Given the description of an element on the screen output the (x, y) to click on. 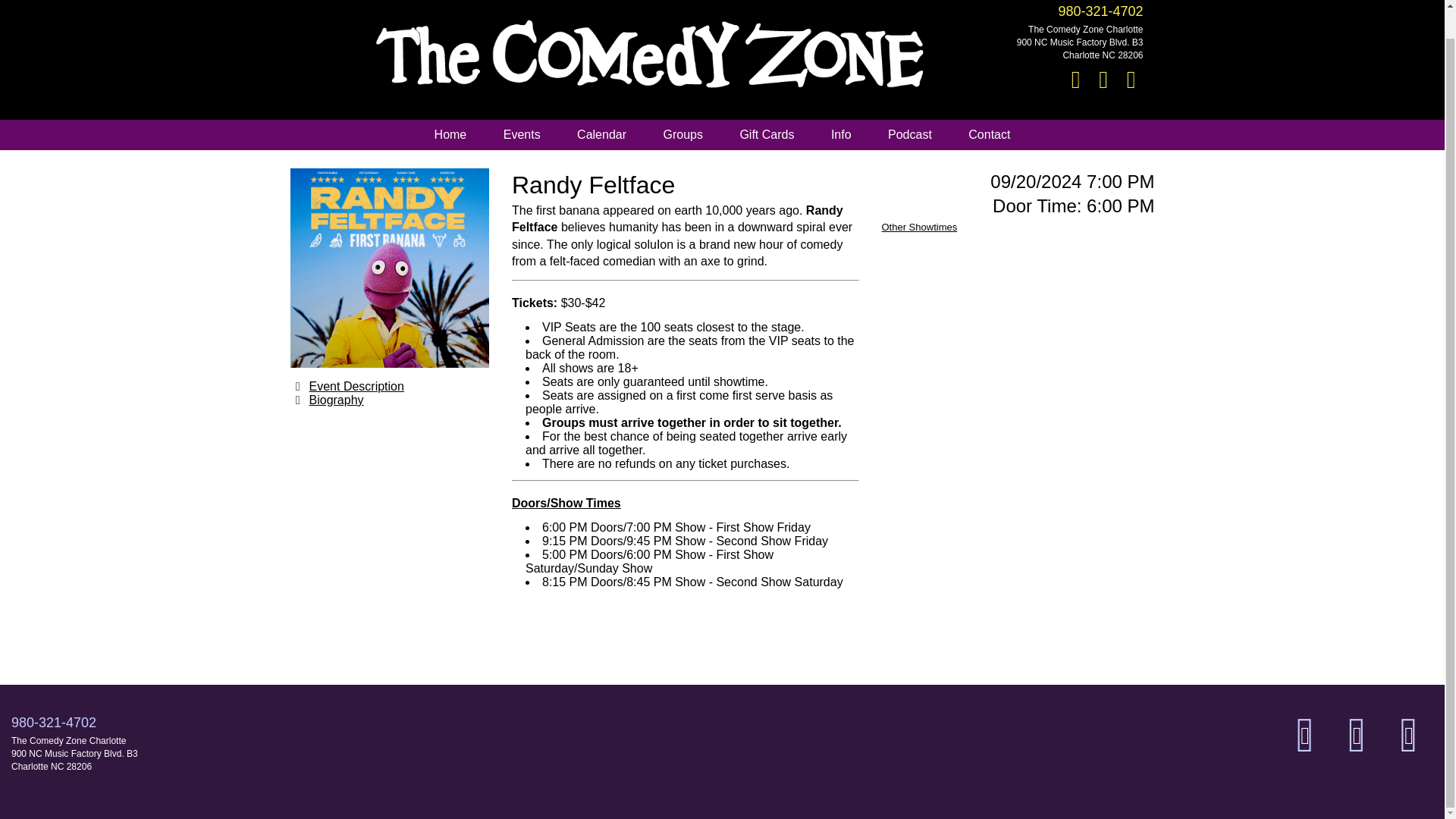
Home (450, 134)
Contact (989, 134)
Groups (682, 134)
Gift Cards (766, 134)
980-321-4702 (1100, 11)
Event Description (356, 385)
Events (521, 134)
Calendar (601, 134)
Biography (336, 399)
Podcast (909, 134)
Info (840, 134)
